Given the description of an element on the screen output the (x, y) to click on. 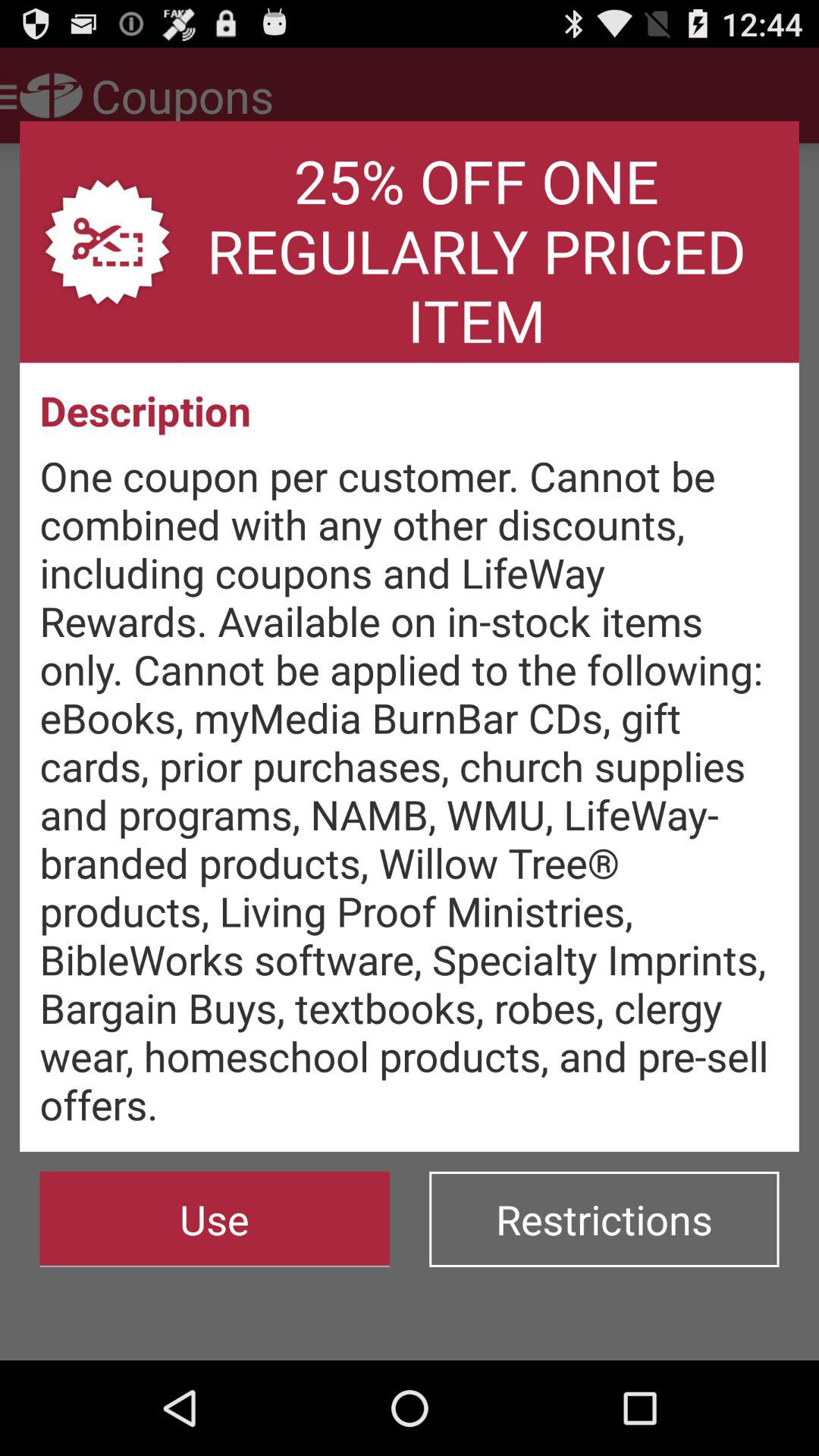
turn on the button to the right of the use button (604, 1219)
